Given the description of an element on the screen output the (x, y) to click on. 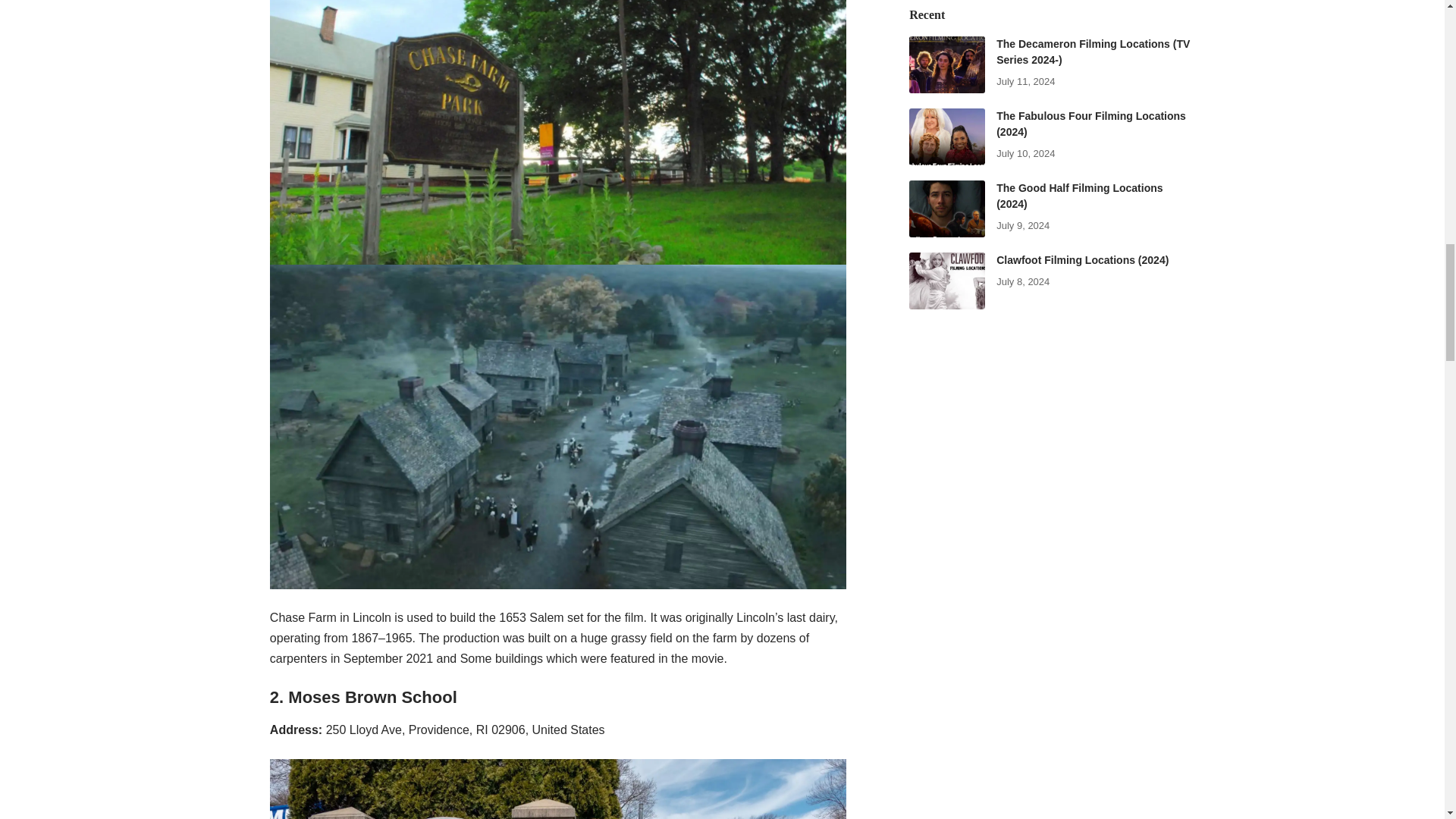
Hocus Pocus 2 Filming Locations 4 (557, 789)
